Given the description of an element on the screen output the (x, y) to click on. 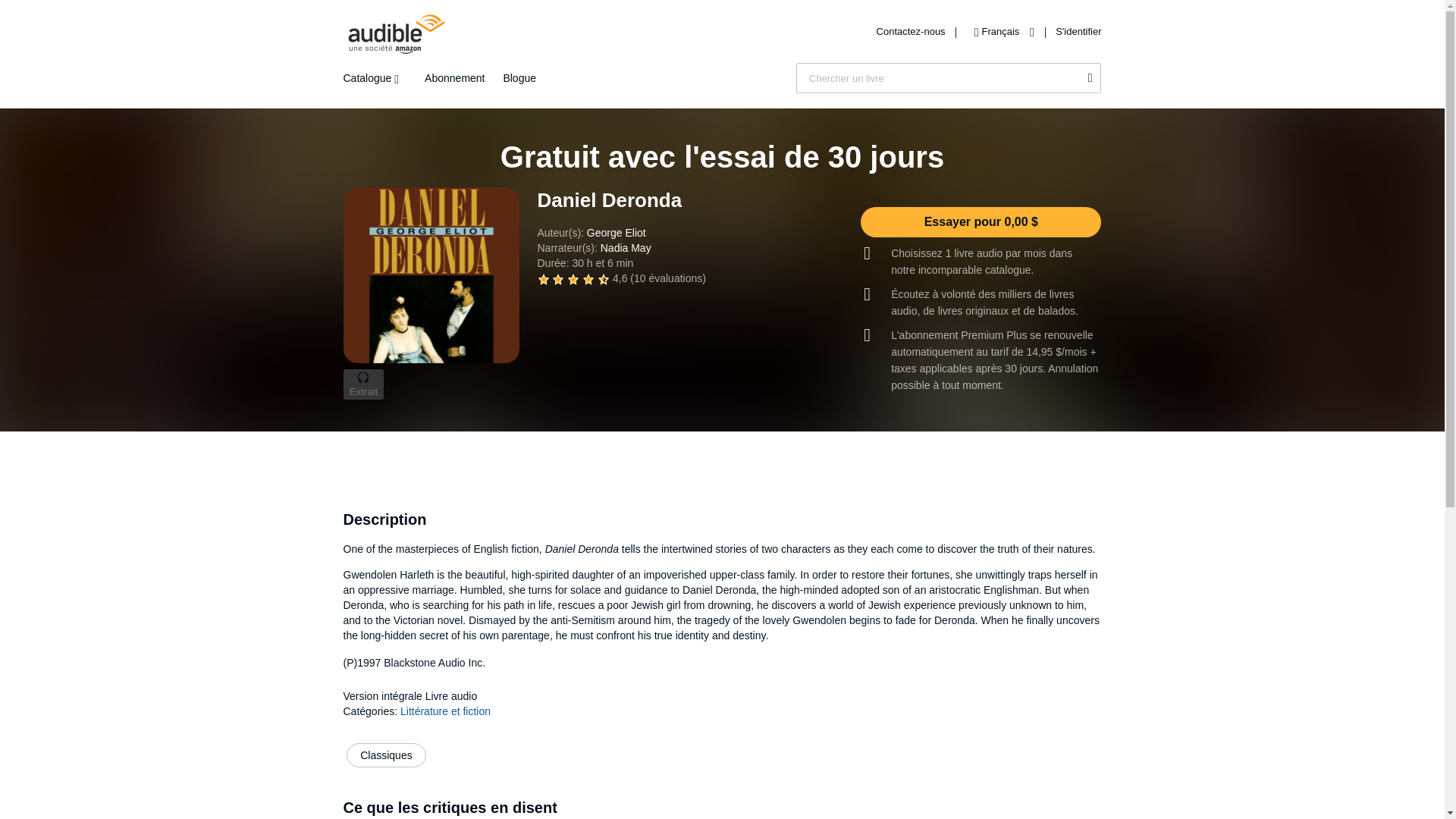
Abonnement (454, 78)
S'identifier (1077, 30)
George Eliot (616, 232)
Catalogue (374, 78)
Blogue (518, 78)
Contactez-nous (912, 30)
Nadia May (624, 247)
